Given the description of an element on the screen output the (x, y) to click on. 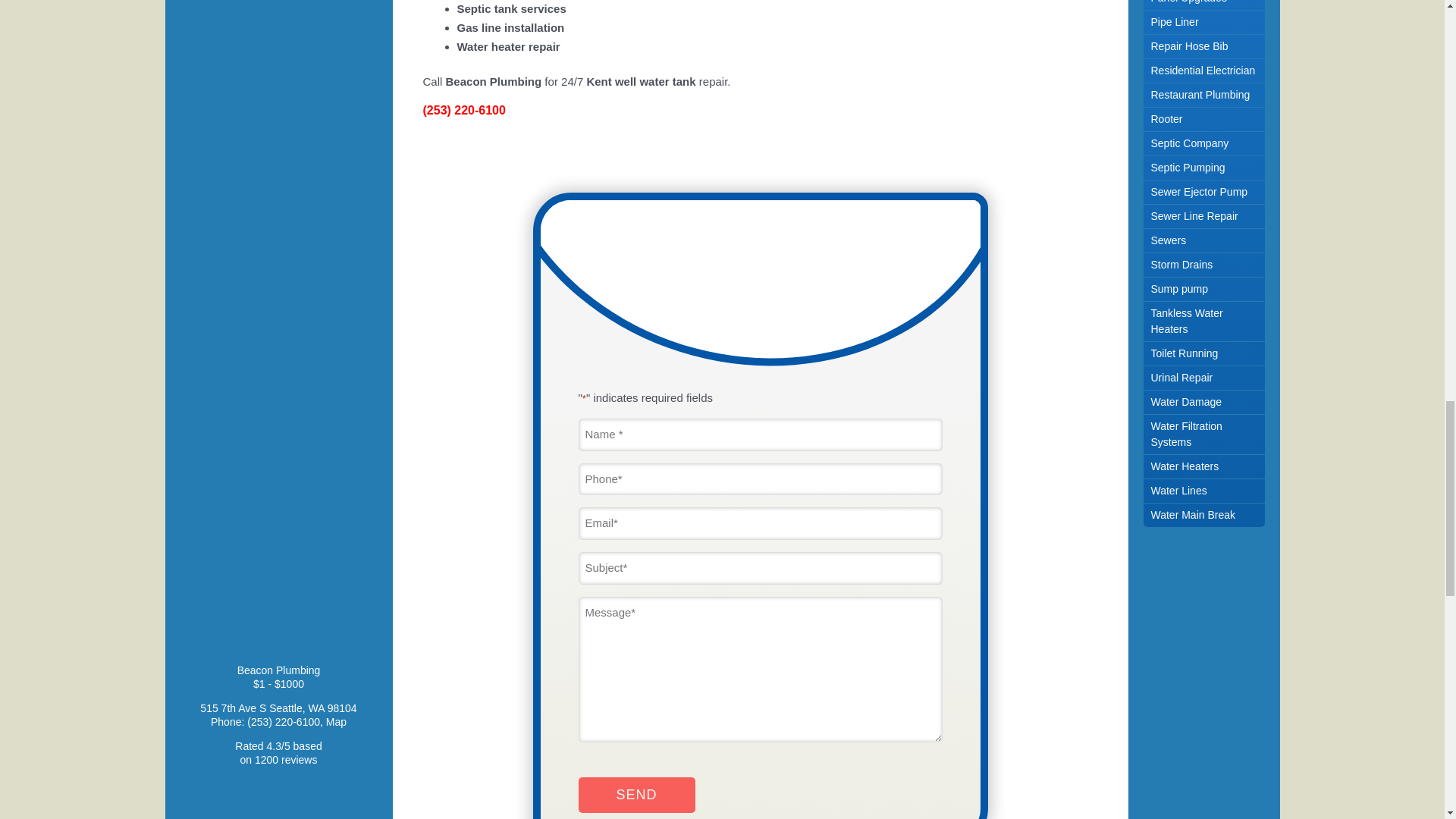
Emergency Plumbing Service Seattle (278, 2)
beacon-plumbing-seattle-wa (278, 396)
Plumber-in-Seattle-Area (278, 99)
local plumbing seattle wa (278, 511)
Send (636, 795)
BPNW-Seattle-Times-Winner-2023 (279, 267)
